Given the description of an element on the screen output the (x, y) to click on. 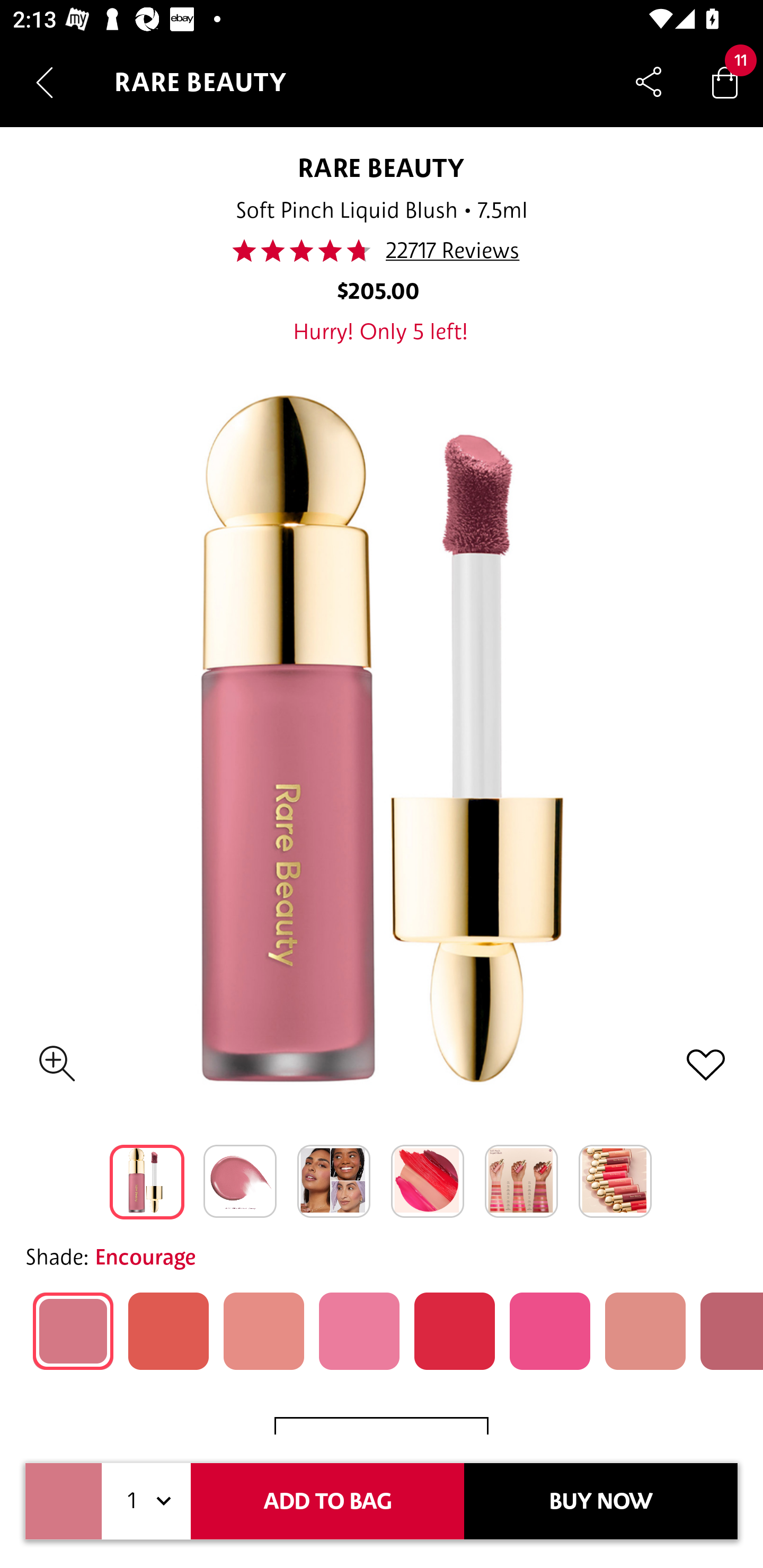
Navigate up (44, 82)
Share (648, 81)
Bag (724, 81)
RARE BEAUTY (381, 167)
47.0 22717 Reviews (380, 250)
1 (145, 1500)
ADD TO BAG (326, 1500)
BUY NOW (600, 1500)
